Given the description of an element on the screen output the (x, y) to click on. 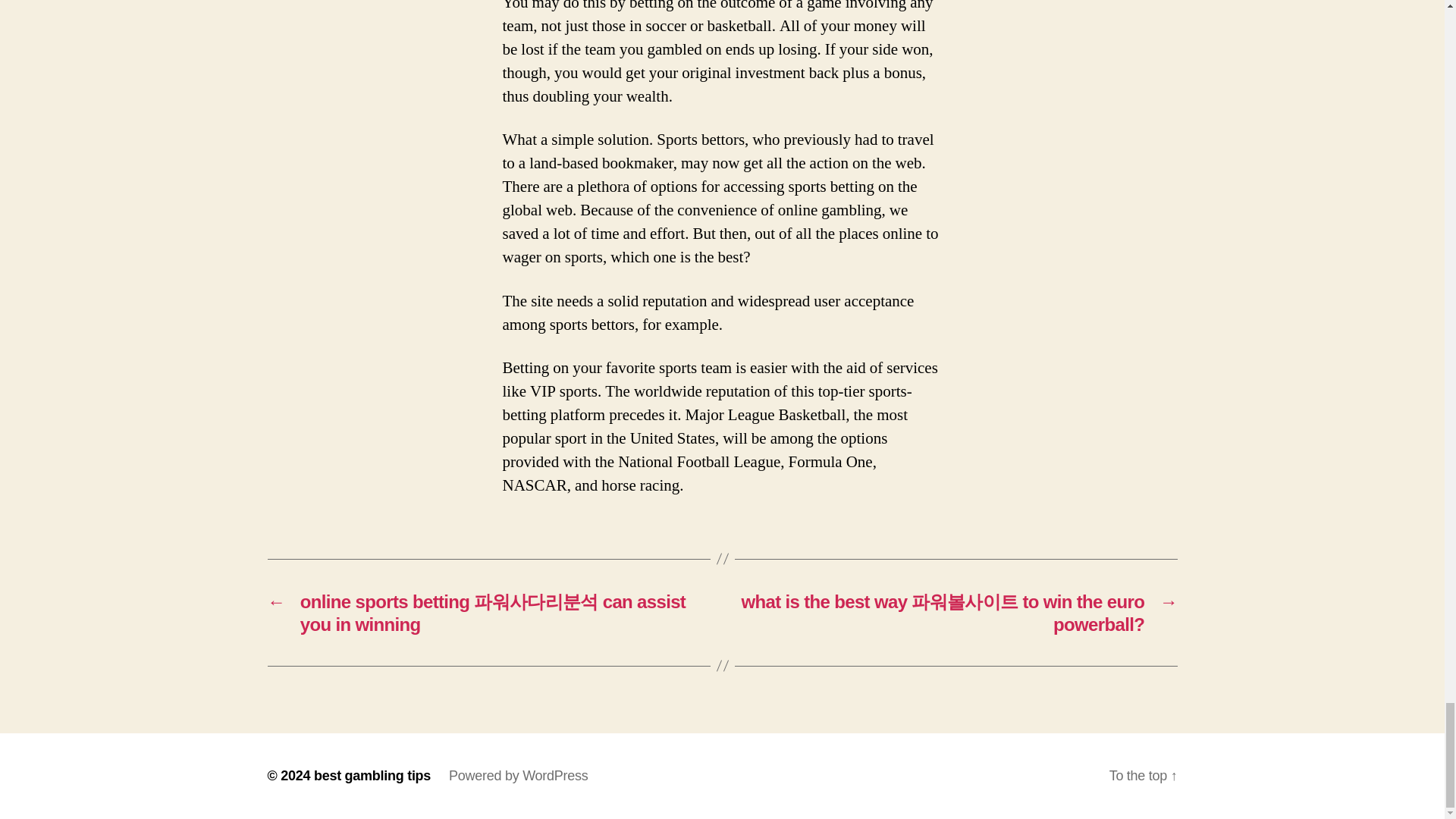
Powered by WordPress (518, 775)
best gambling tips (372, 775)
